Given the description of an element on the screen output the (x, y) to click on. 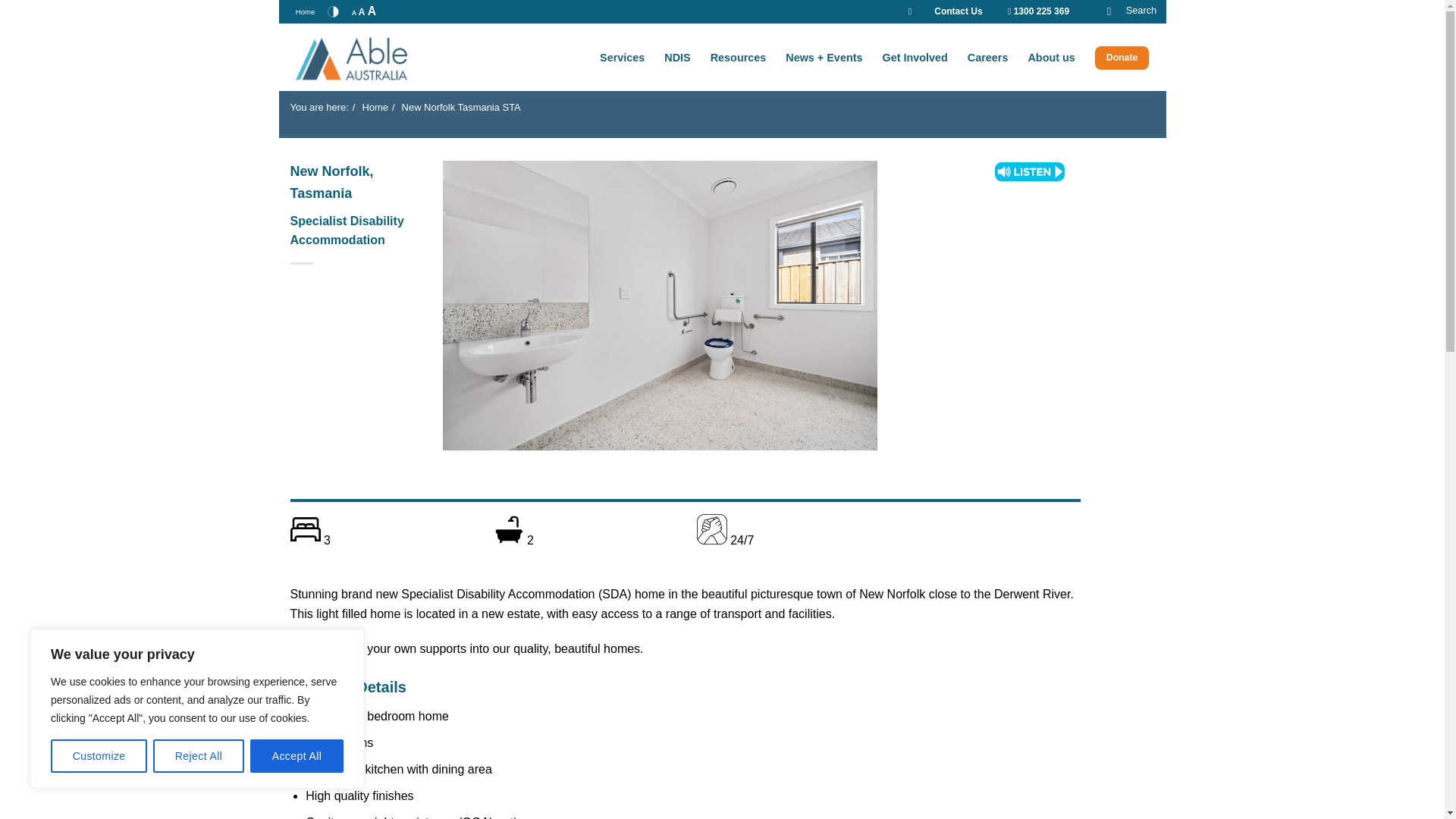
Home (305, 11)
Customize (98, 756)
You are here: (318, 107)
Able Australia - Together we are able (370, 57)
Reject All (198, 756)
Overview (738, 57)
Home (374, 107)
Accept All (296, 756)
New Norfolk Tasmania STA (461, 107)
